Given the description of an element on the screen output the (x, y) to click on. 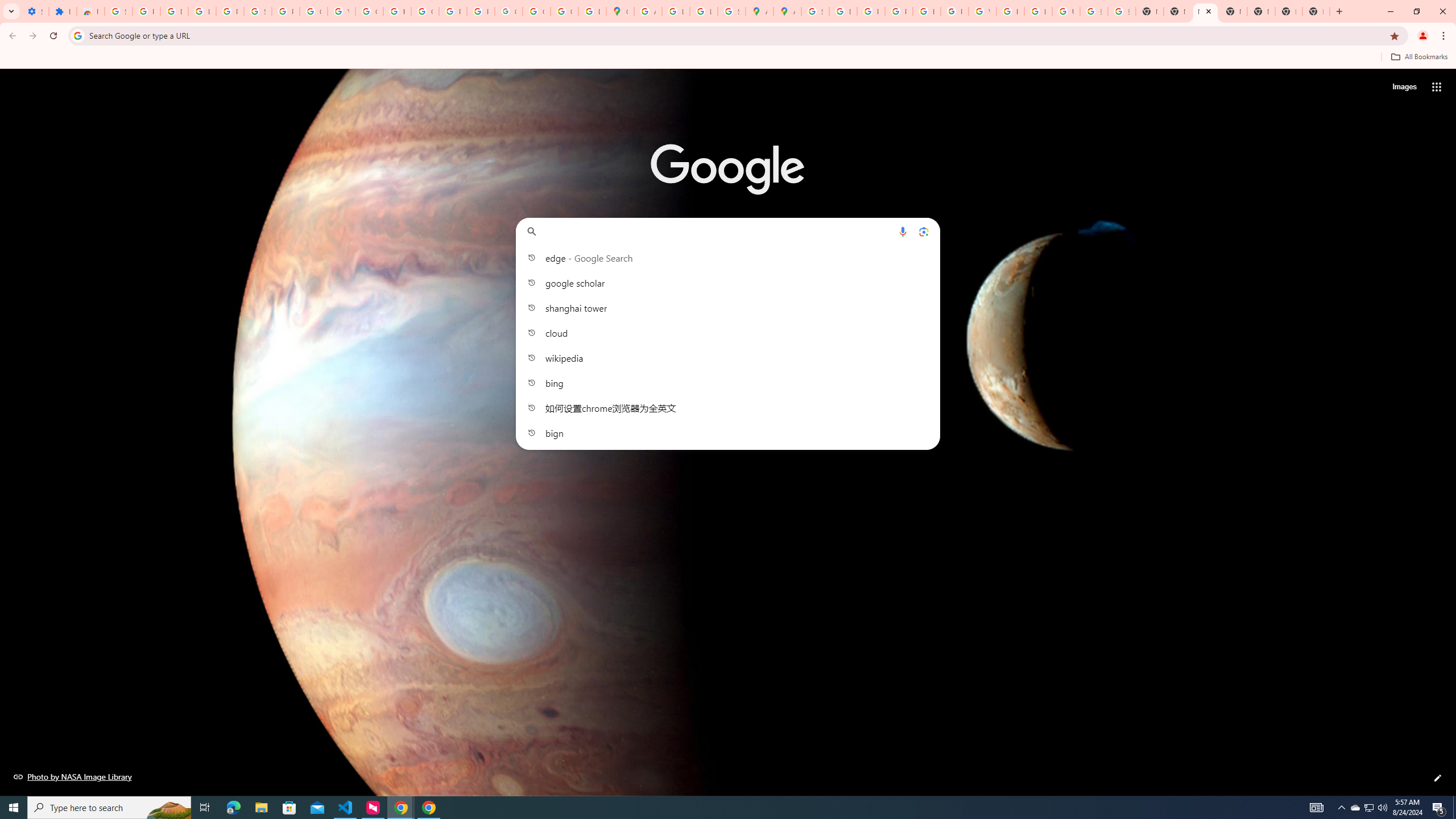
Photo by NASA Image Library (72, 776)
Privacy Help Center - Policies Help (898, 11)
Browse Chrome as a guest - Computer - Google Chrome Help (1010, 11)
Add shortcut (727, 287)
Learn how to find your photos - Google Photos Help (202, 11)
